Given the description of an element on the screen output the (x, y) to click on. 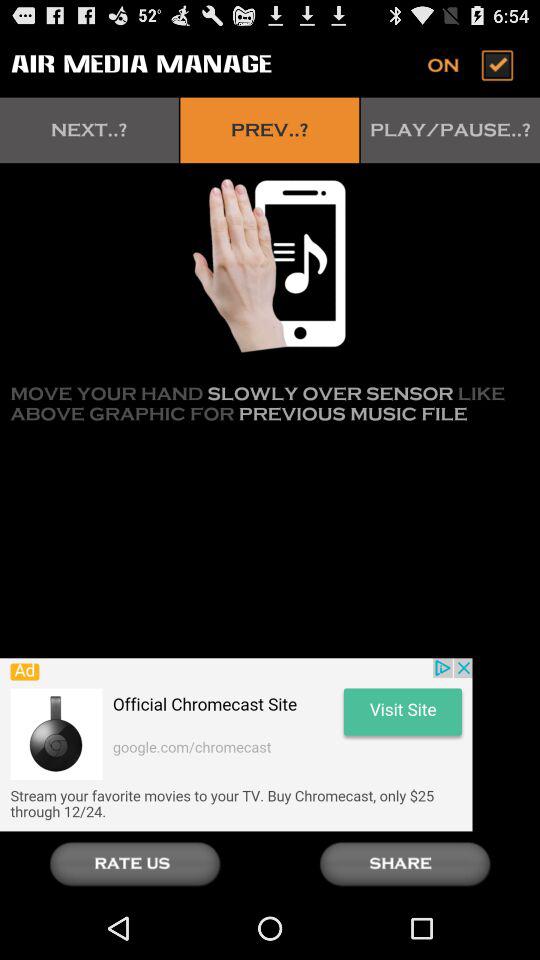
share music track (405, 863)
